Given the description of an element on the screen output the (x, y) to click on. 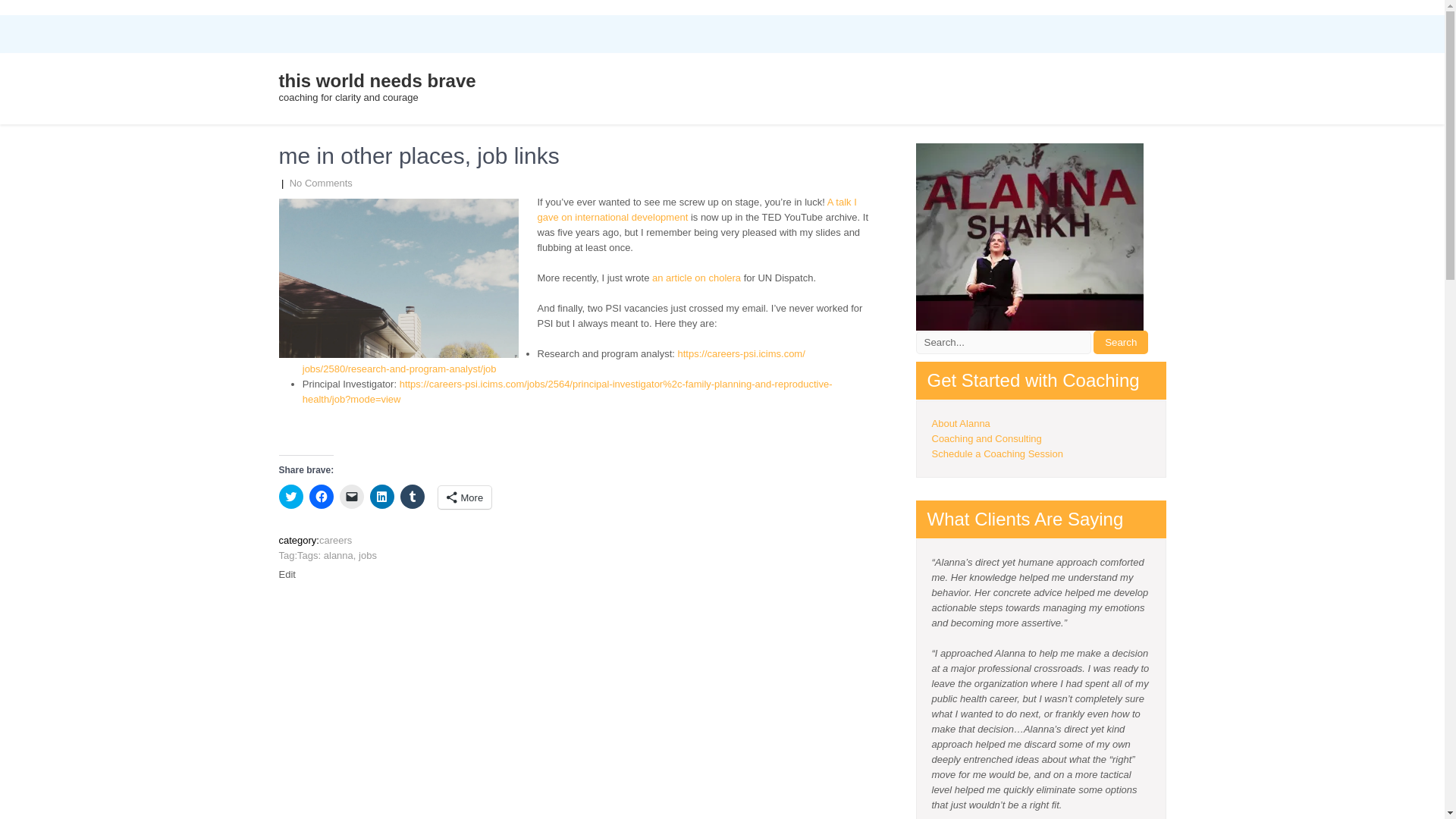
No Comments (320, 183)
More (465, 497)
A talk I gave on international development (696, 209)
Search (1120, 341)
Click to email a link to a friend (351, 496)
Click to share on Tumblr (412, 496)
About Alanna (960, 423)
Search (1120, 341)
careers (335, 540)
Search (1120, 341)
Click to share on Twitter (290, 496)
Coaching and Consulting (986, 438)
Schedule a Coaching Session (996, 453)
this world needs brave (377, 80)
Click to share on LinkedIn (381, 496)
